Given the description of an element on the screen output the (x, y) to click on. 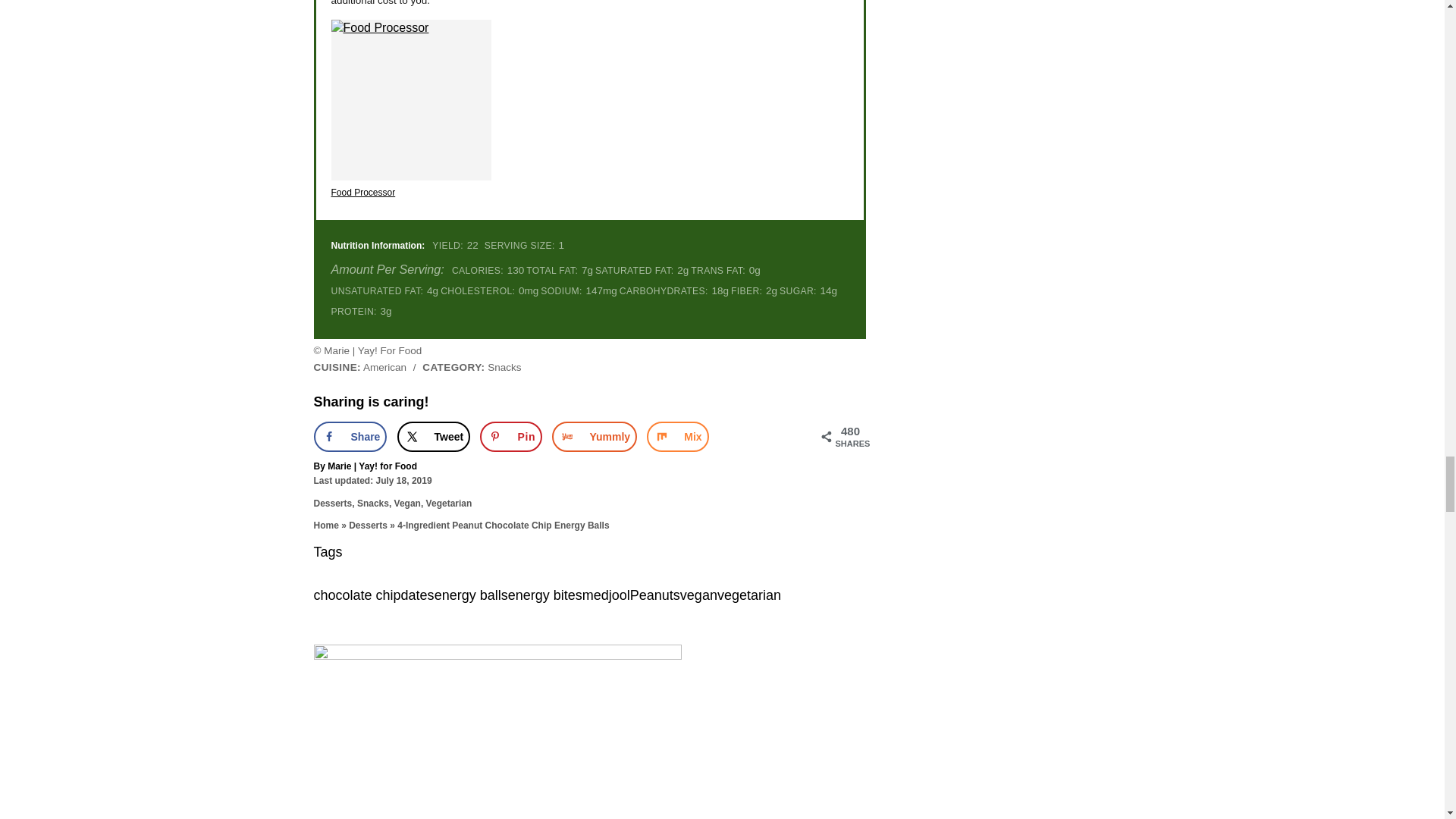
Save to Pinterest (510, 436)
Share (350, 436)
Mix (676, 436)
Share on Mix (676, 436)
Share on X (433, 436)
Pin (510, 436)
Tweet (433, 436)
Share on Facebook (350, 436)
Share on Yummly (594, 436)
Yummly (594, 436)
